Given the description of an element on the screen output the (x, y) to click on. 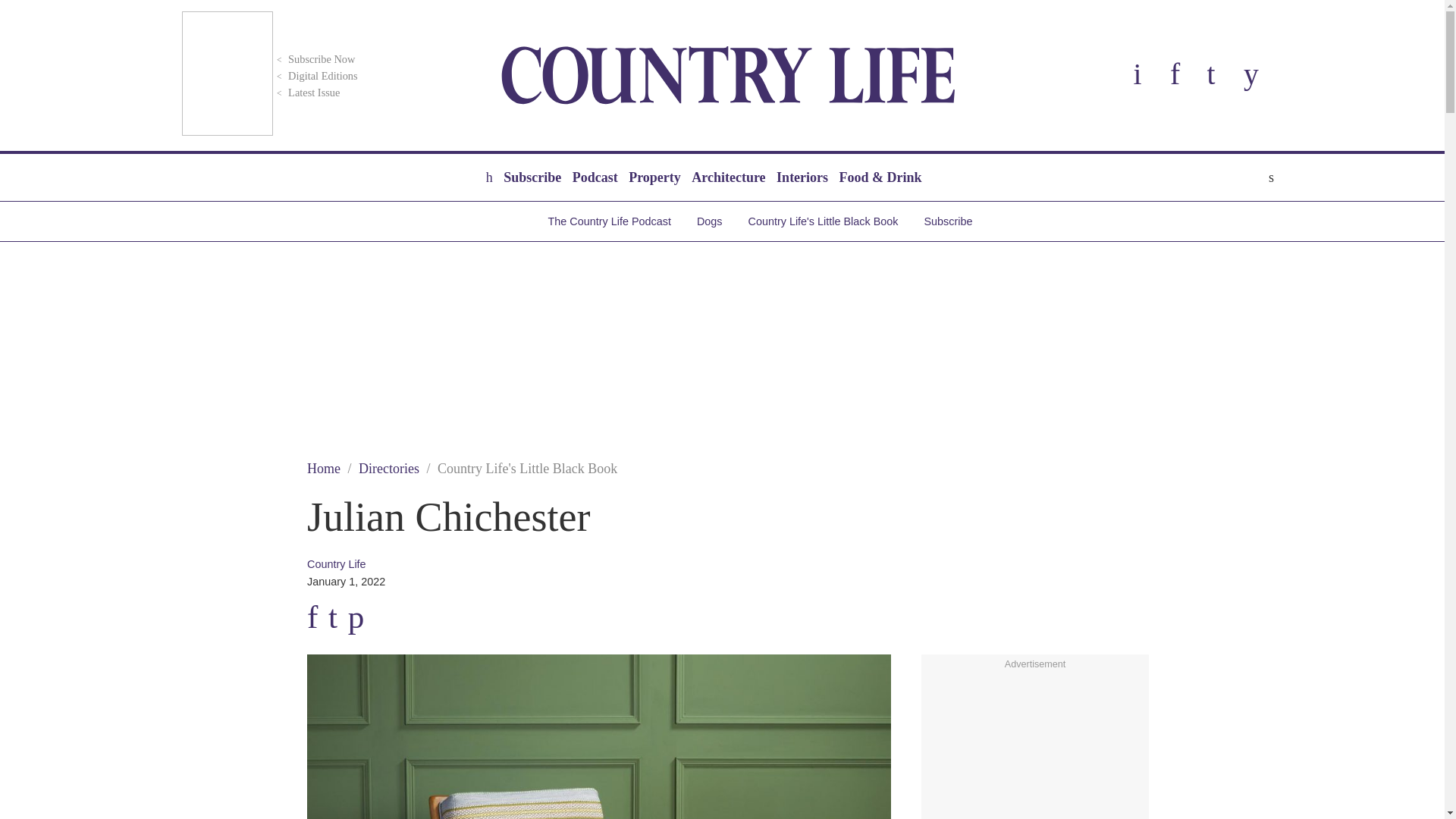
Podcast (595, 176)
Interiors (802, 176)
Digital Editions (315, 75)
Latest Issue (306, 92)
Architecture (727, 176)
Property (654, 176)
Subscribe (531, 176)
Subscribe Now (314, 59)
Country Life (727, 74)
